Given the description of an element on the screen output the (x, y) to click on. 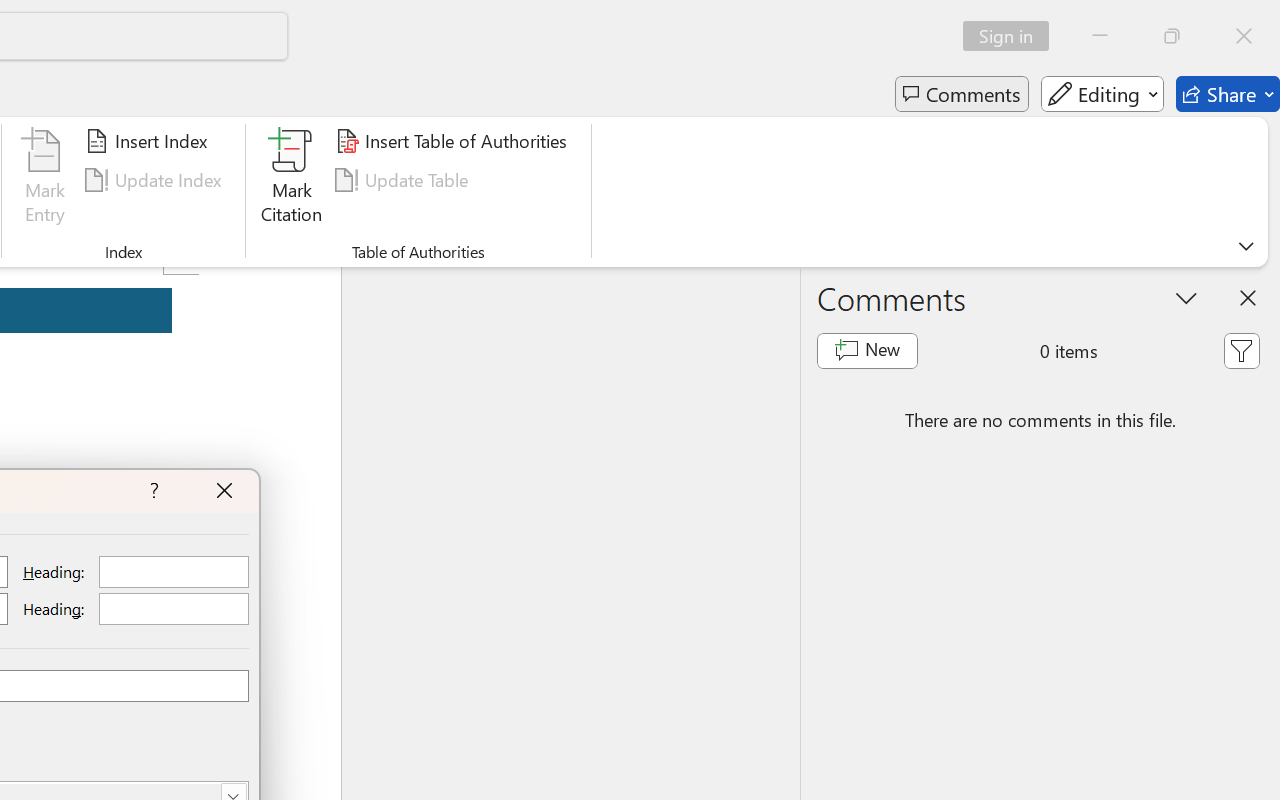
Insert Index... (149, 141)
Heading: (173, 608)
Insert Table of Authorities... (453, 141)
Filter (1241, 350)
Update Table (404, 179)
Mark Entry... (44, 179)
